Given the description of an element on the screen output the (x, y) to click on. 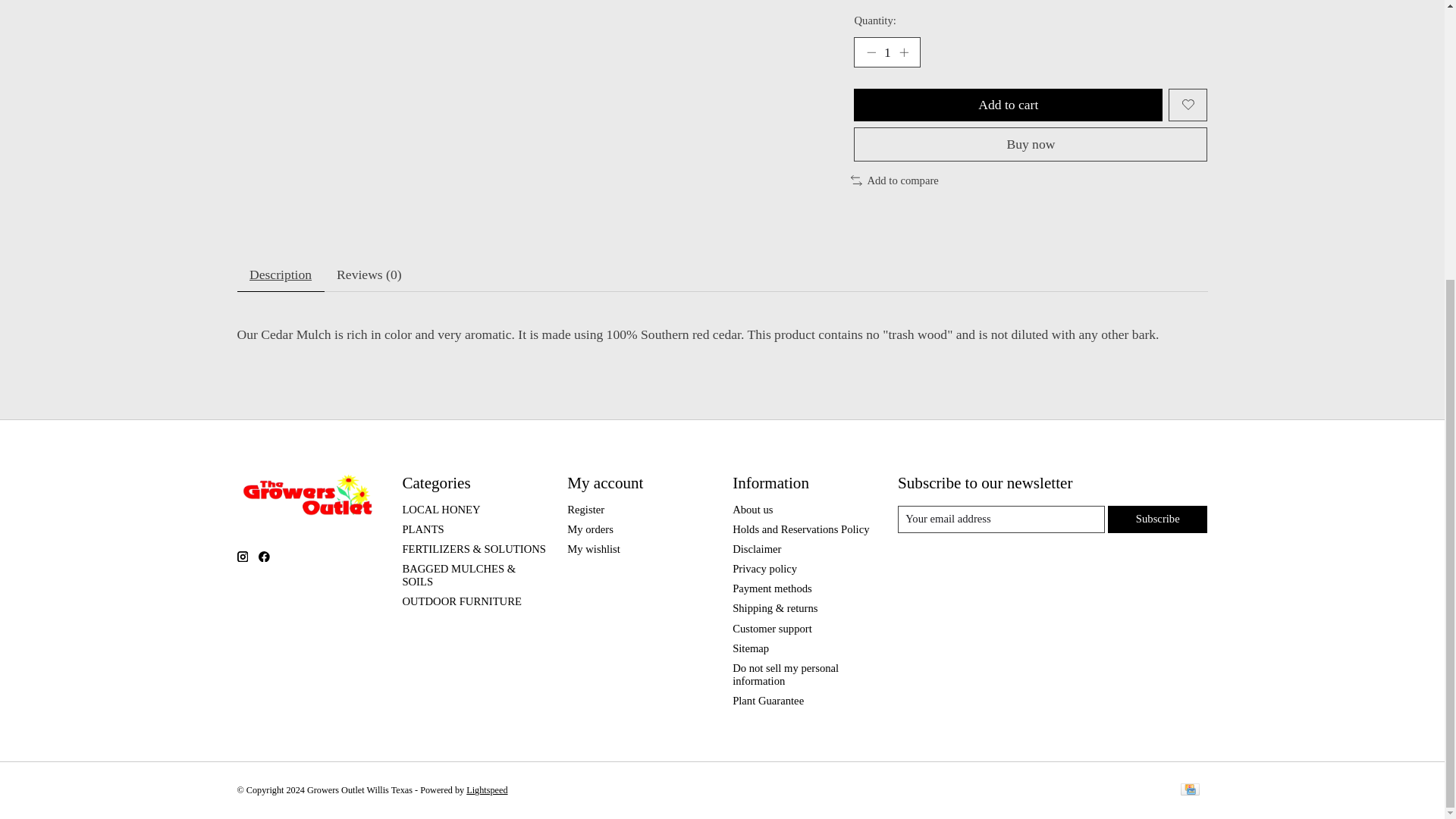
Privacy policy (764, 568)
Payment methods (772, 588)
My wishlist (593, 548)
Holds and Reservations Policy (800, 529)
Register (585, 509)
Sitemap (750, 648)
Plant Guarantee (767, 700)
My orders (589, 529)
Do not sell my personal information (785, 674)
About us (752, 509)
Disclaimer (756, 548)
1 (886, 51)
Lightspeed (485, 789)
Customer support (772, 628)
